Given the description of an element on the screen output the (x, y) to click on. 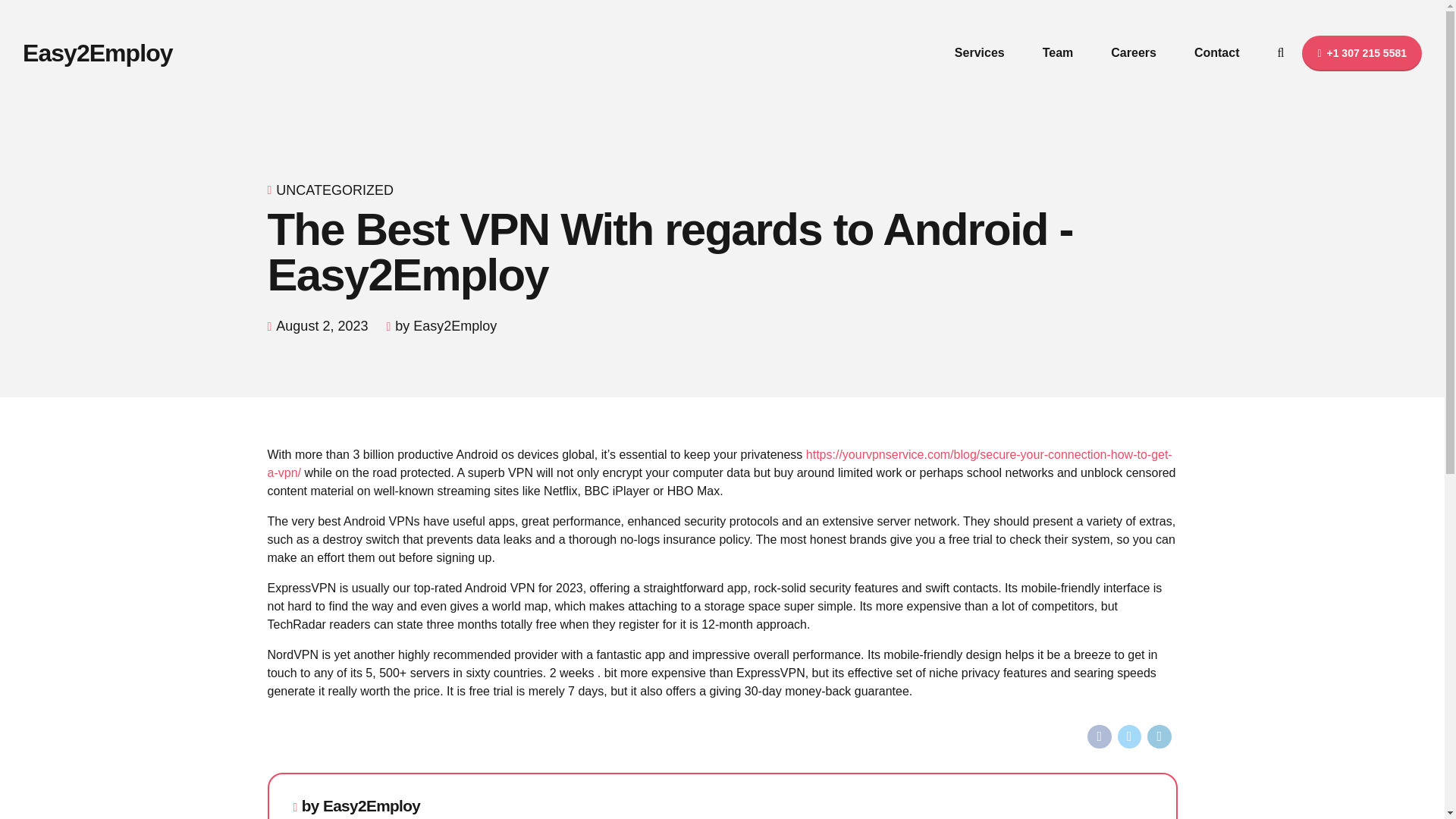
Easy2Employ (98, 52)
by Easy2Employ (445, 326)
Share on Facebook (1099, 736)
Share on Linkedin (1159, 736)
UNCATEGORIZED (334, 190)
Share on Twitter (1129, 736)
by Easy2Employ (360, 806)
